Given the description of an element on the screen output the (x, y) to click on. 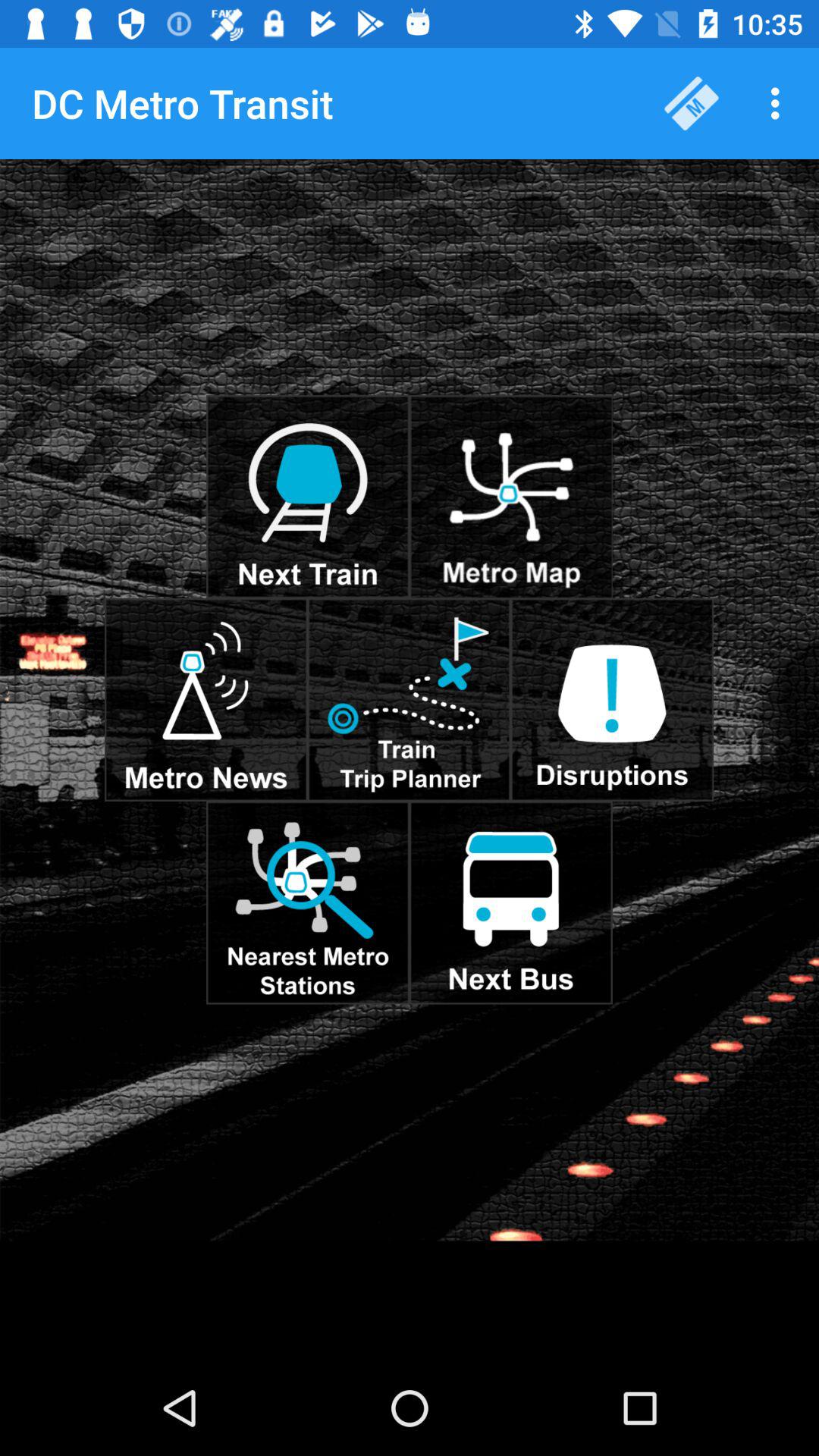
choose item next to the dc metro transit (691, 103)
